Given the description of an element on the screen output the (x, y) to click on. 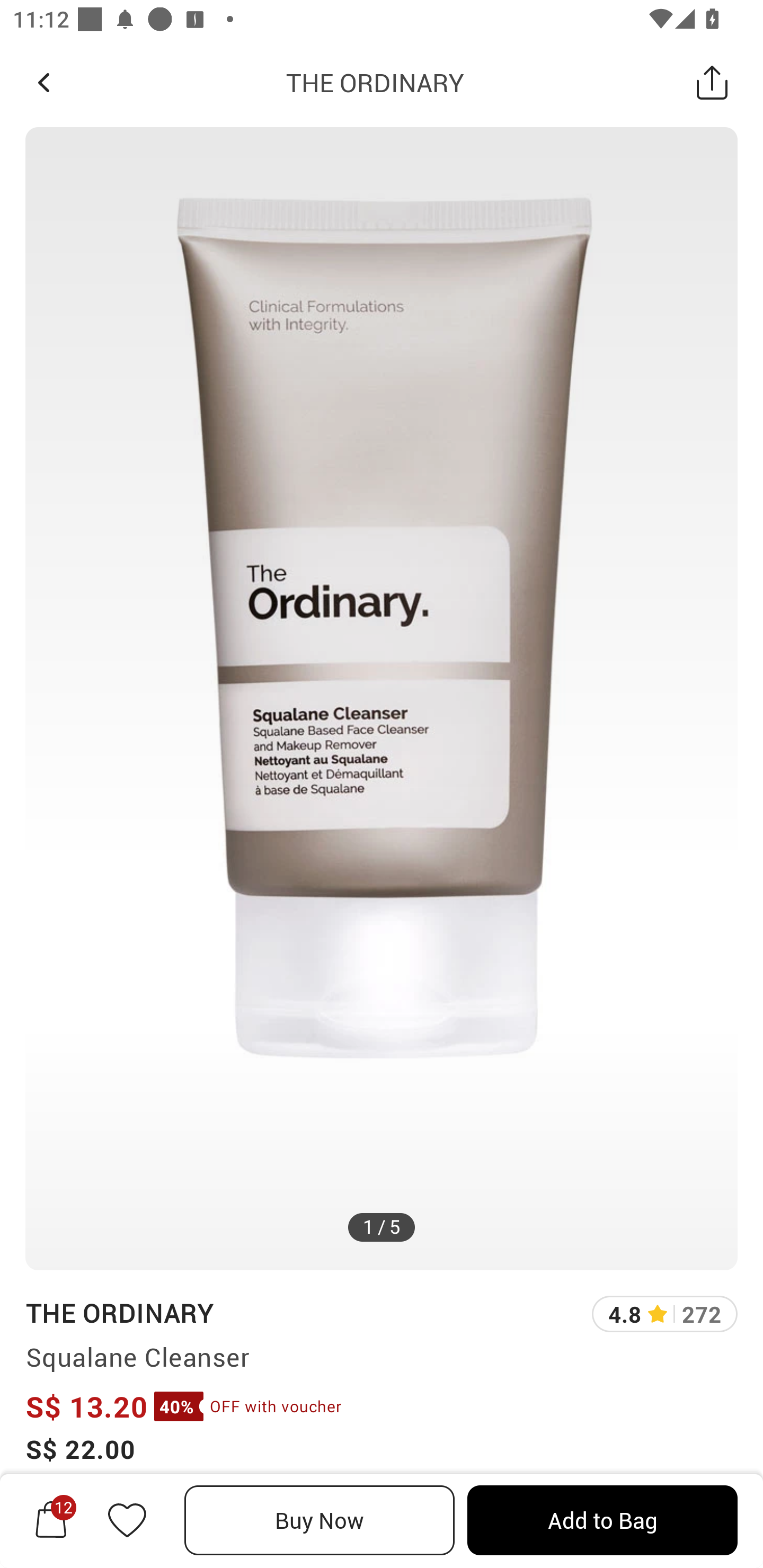
THE ORDINARY (375, 82)
Share this Product (711, 82)
THE ORDINARY (119, 1312)
4.8 272 (664, 1313)
Buy Now (319, 1519)
Add to Bag (601, 1519)
12 (50, 1520)
